Given the description of an element on the screen output the (x, y) to click on. 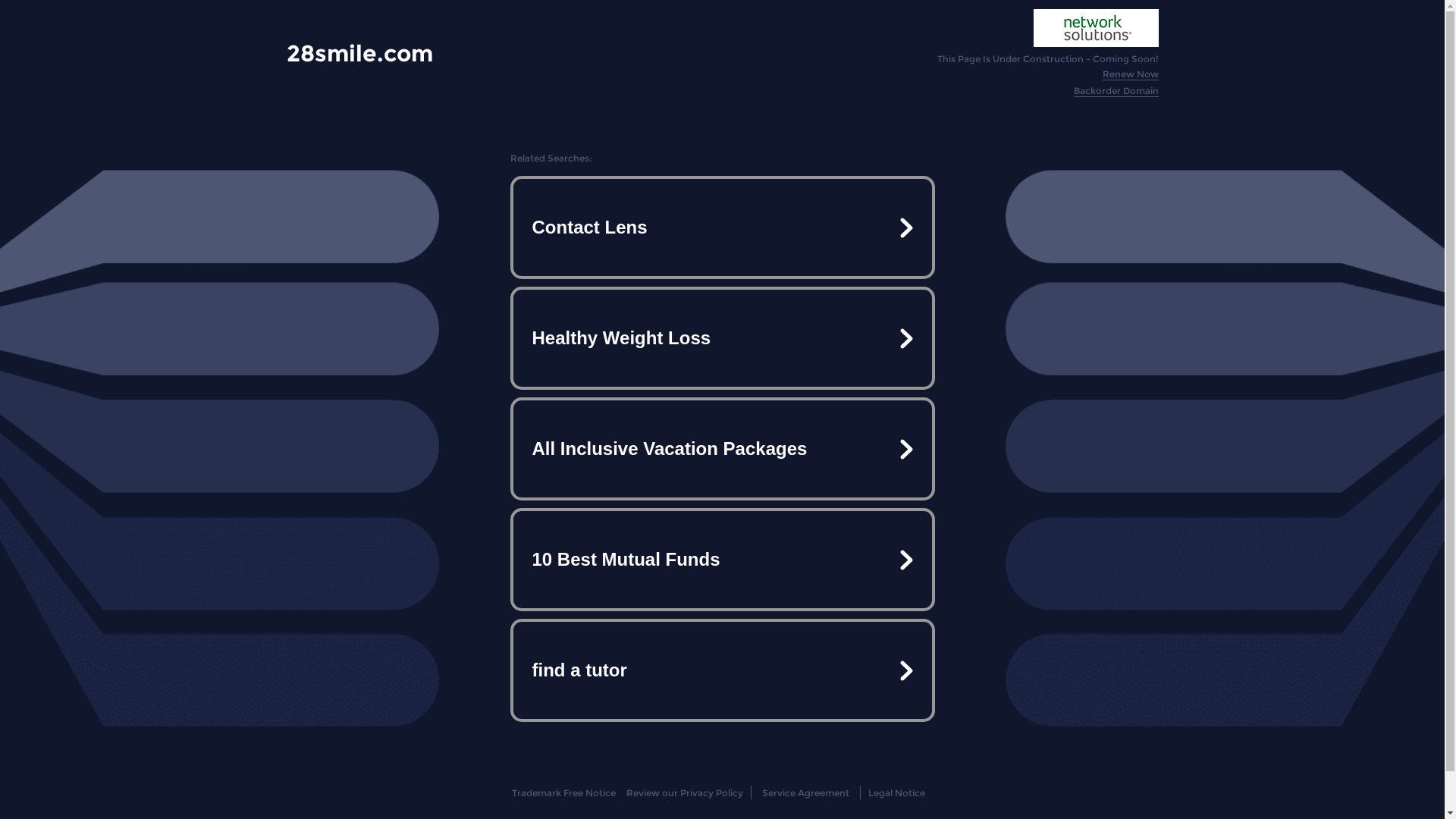
Renew Now Element type: text (1130, 74)
find a tutor Element type: text (721, 669)
28smile.com Element type: text (359, 53)
Contact Lens Element type: text (721, 227)
Trademark Free Notice Element type: text (563, 792)
10 Best Mutual Funds Element type: text (721, 559)
Healthy Weight Loss Element type: text (721, 337)
Review our Privacy Policy Element type: text (684, 792)
All Inclusive Vacation Packages Element type: text (721, 448)
Legal Notice Element type: text (896, 792)
Service Agreement Element type: text (805, 792)
Backorder Domain Element type: text (1115, 90)
